Given the description of an element on the screen output the (x, y) to click on. 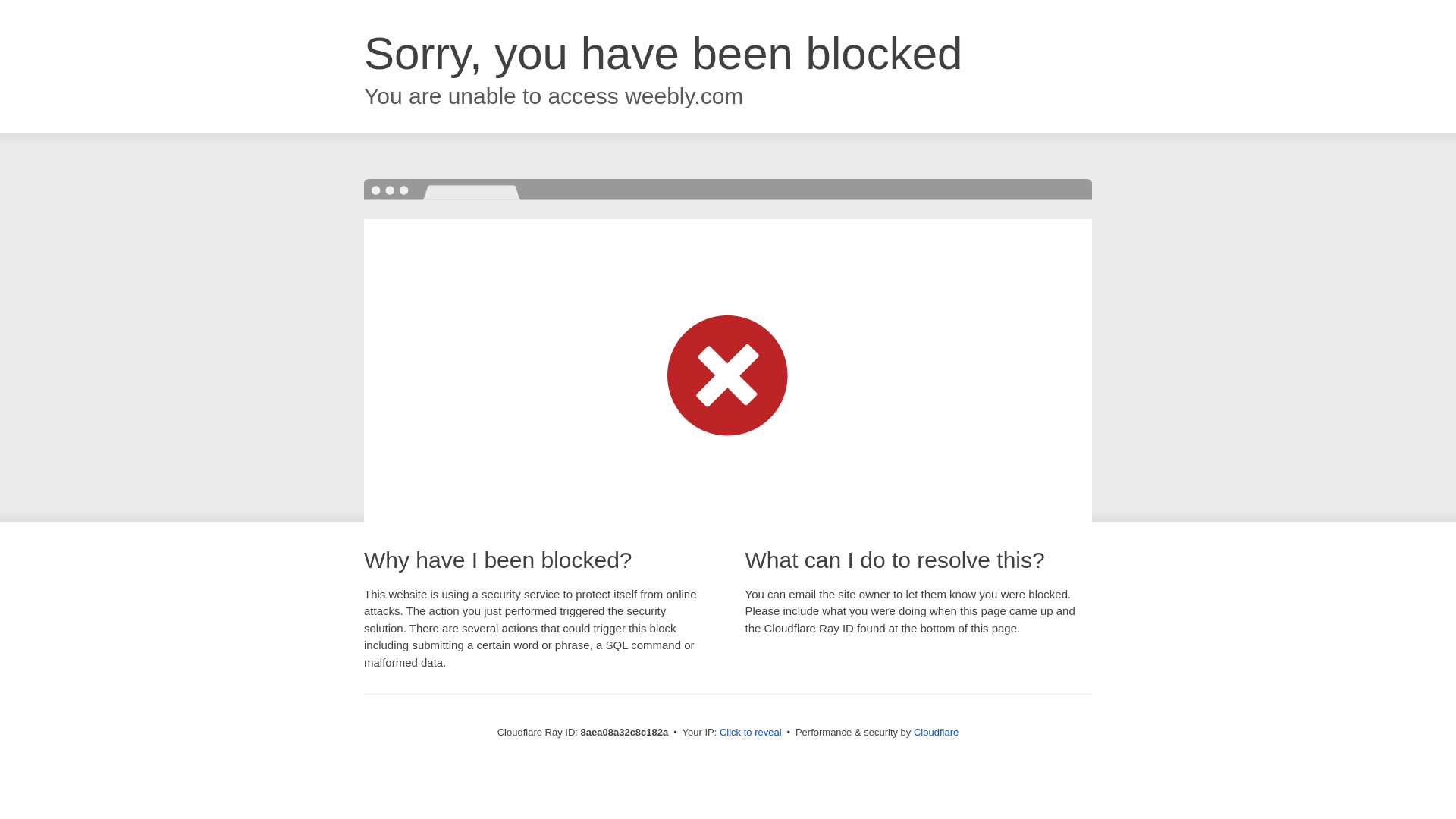
Cloudflare (936, 731)
Click to reveal (750, 732)
